Given the description of an element on the screen output the (x, y) to click on. 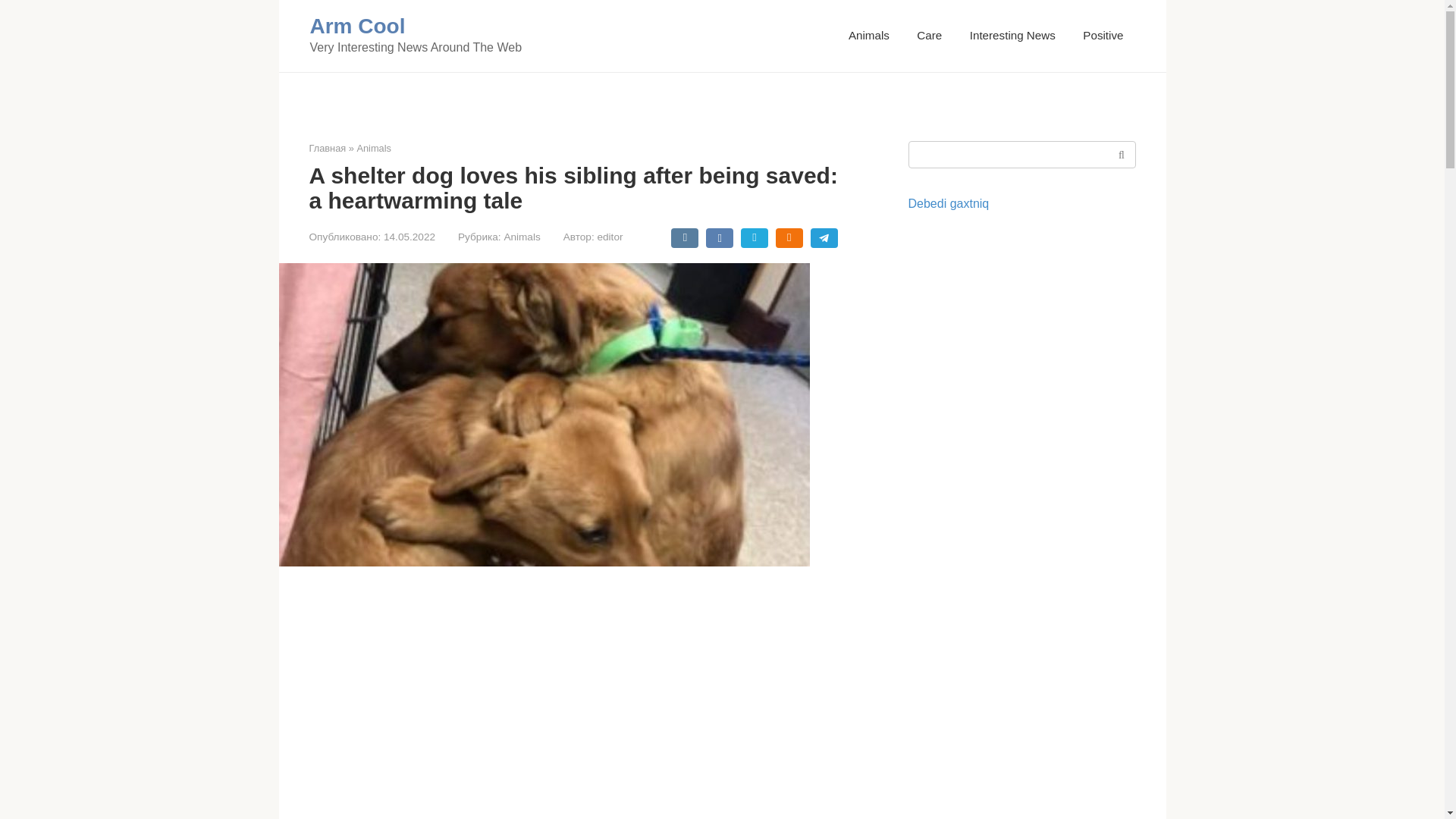
Animals (868, 35)
Debedi gaxtniq (949, 203)
Animals (373, 147)
Positive (1102, 35)
Interesting News (1012, 35)
Care (929, 35)
Arm Cool (356, 25)
Animals (521, 236)
